Given the description of an element on the screen output the (x, y) to click on. 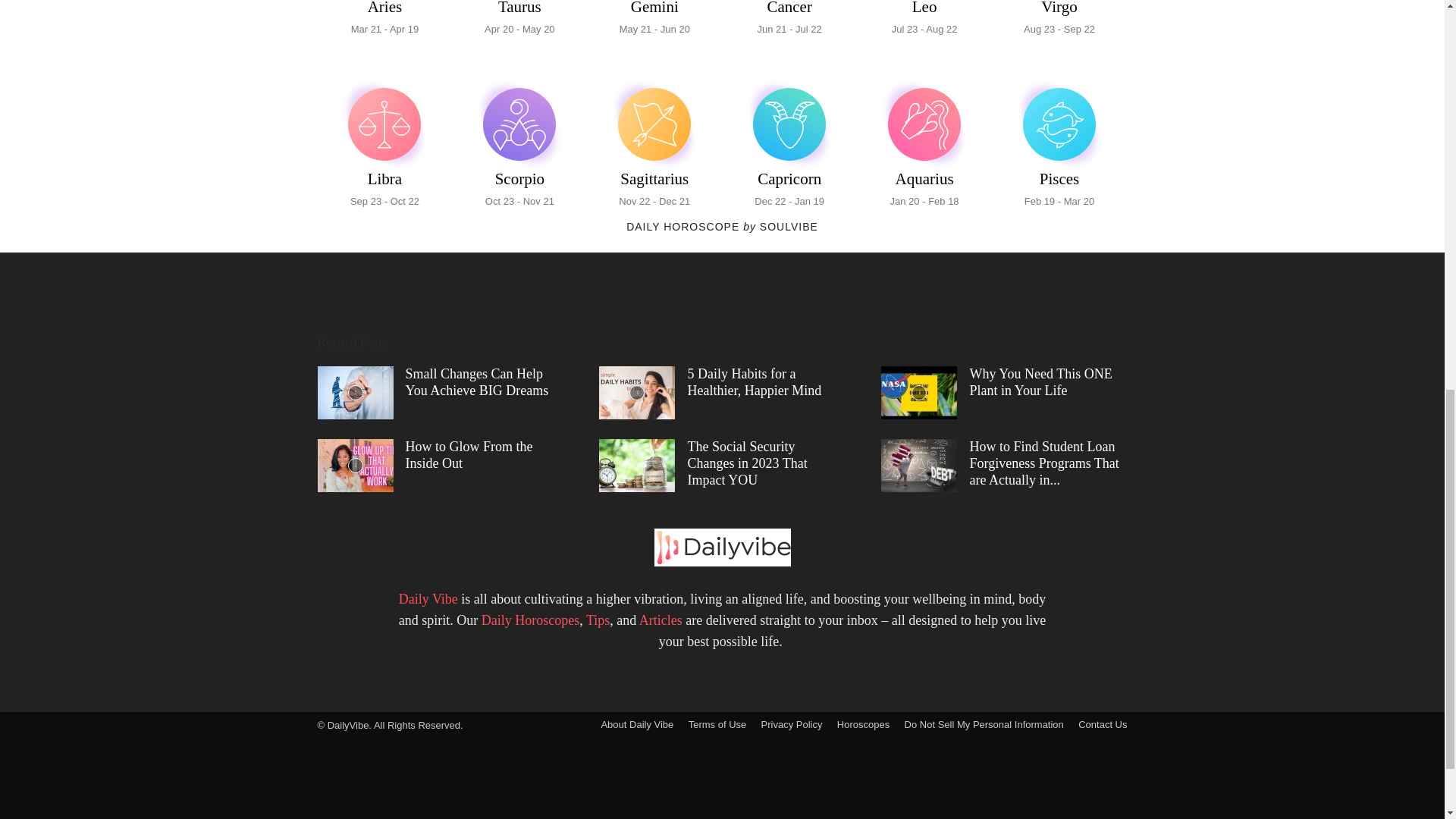
Leo Horoscope Today (789, 20)
Taurus Horoscope Today (924, 20)
Virgo Horoscope Today (519, 20)
Cancer Horoscope Today (789, 146)
Aries Horoscope Today (519, 20)
DAILY HOROSCOPE by (519, 146)
